Given the description of an element on the screen output the (x, y) to click on. 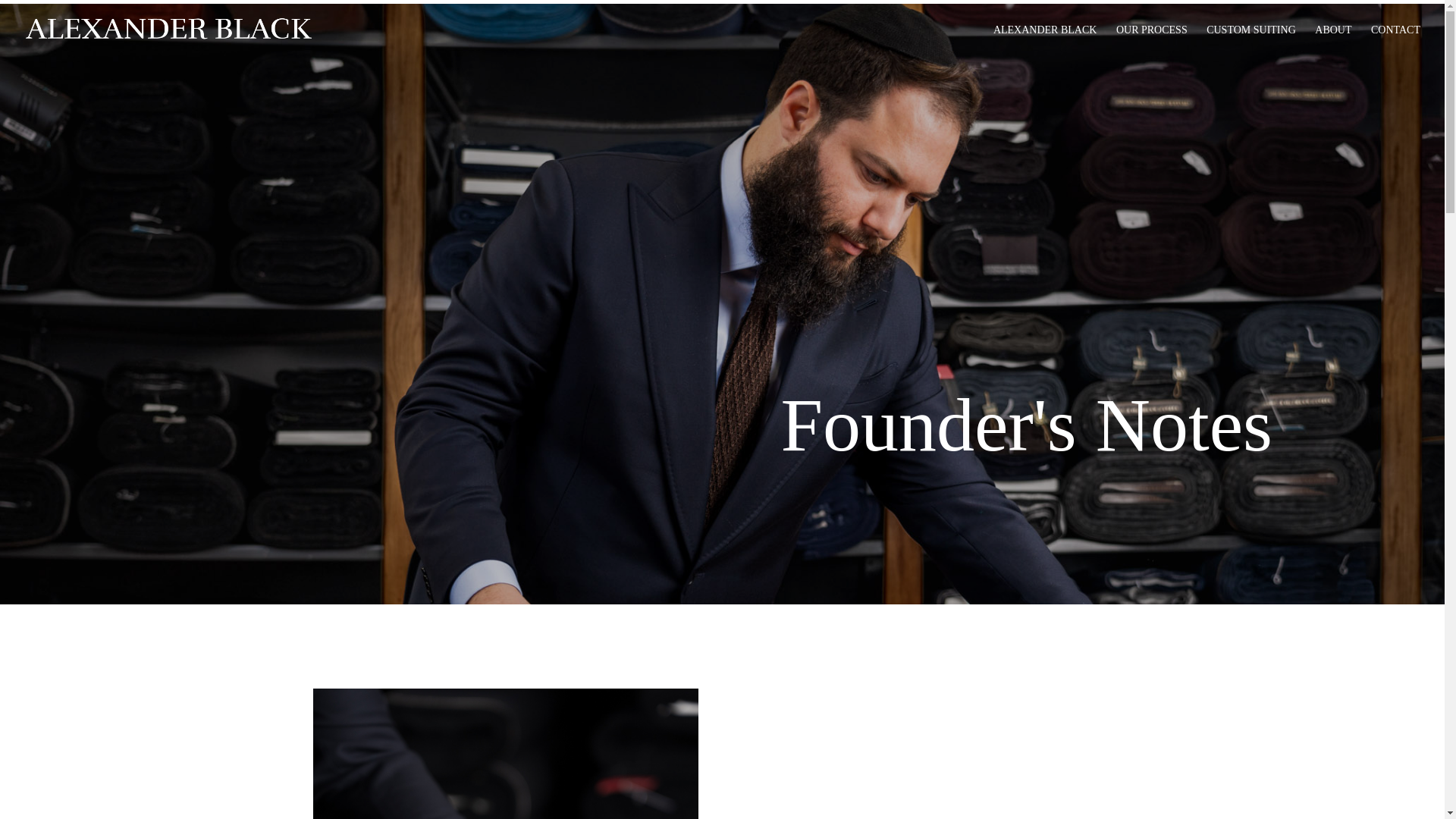
ALEXANDER BLACK (1044, 42)
OUR PROCESS (1152, 42)
ABOUT (1332, 42)
CONTACT (1396, 42)
CUSTOM SUITING (1251, 42)
